Given the description of an element on the screen output the (x, y) to click on. 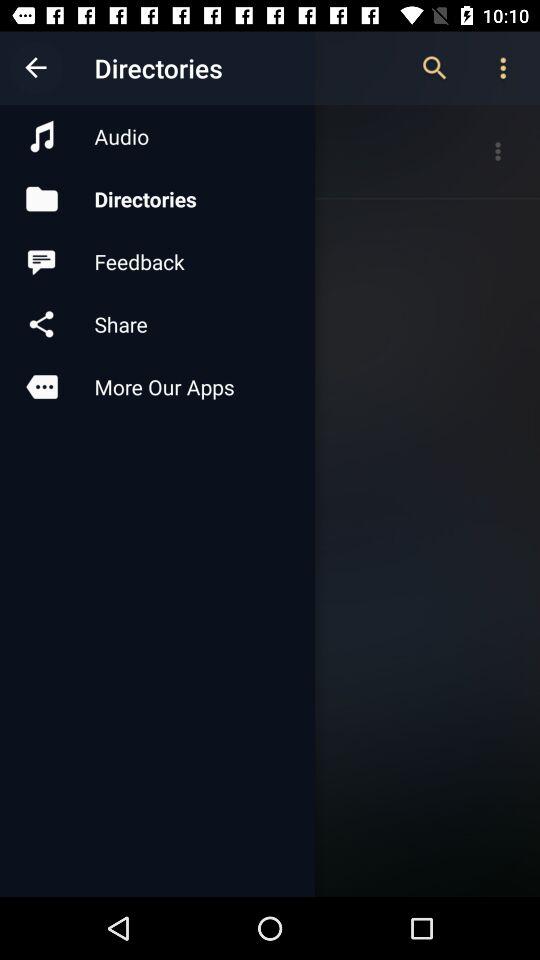
turn off the icon to the right of the audio (434, 67)
